Given the description of an element on the screen output the (x, y) to click on. 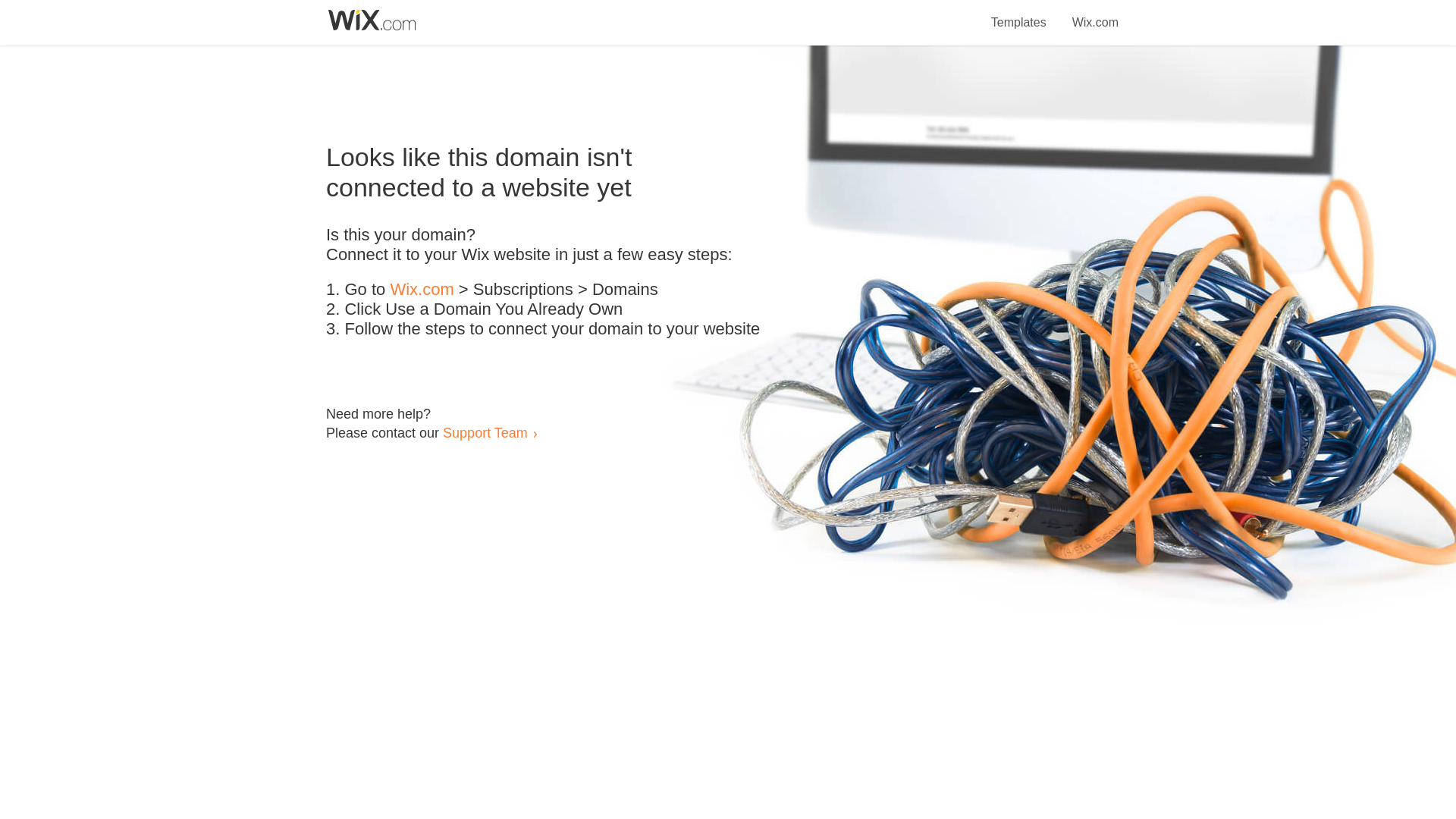
Wix.com (1095, 14)
Support Team (484, 432)
Templates (1018, 14)
Wix.com (421, 289)
